Given the description of an element on the screen output the (x, y) to click on. 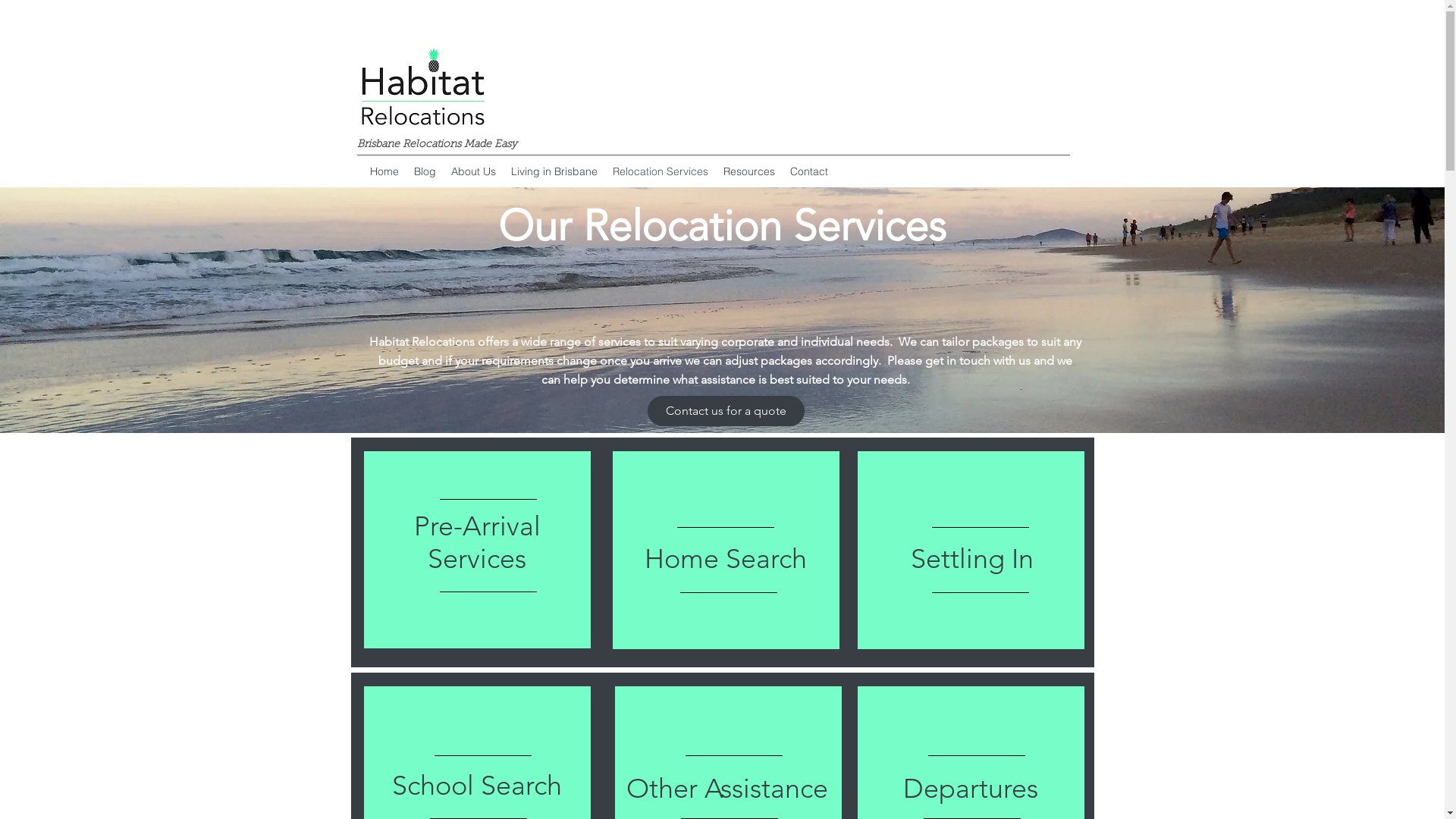
Home Element type: text (384, 171)
Contact Element type: text (808, 171)
Relocation Services Element type: text (660, 171)
Living in Brisbane Element type: text (554, 171)
Blog Element type: text (424, 171)
Resources Element type: text (748, 171)
About Us Element type: text (472, 171)
Contact us for a quote Element type: text (725, 410)
